Given the description of an element on the screen output the (x, y) to click on. 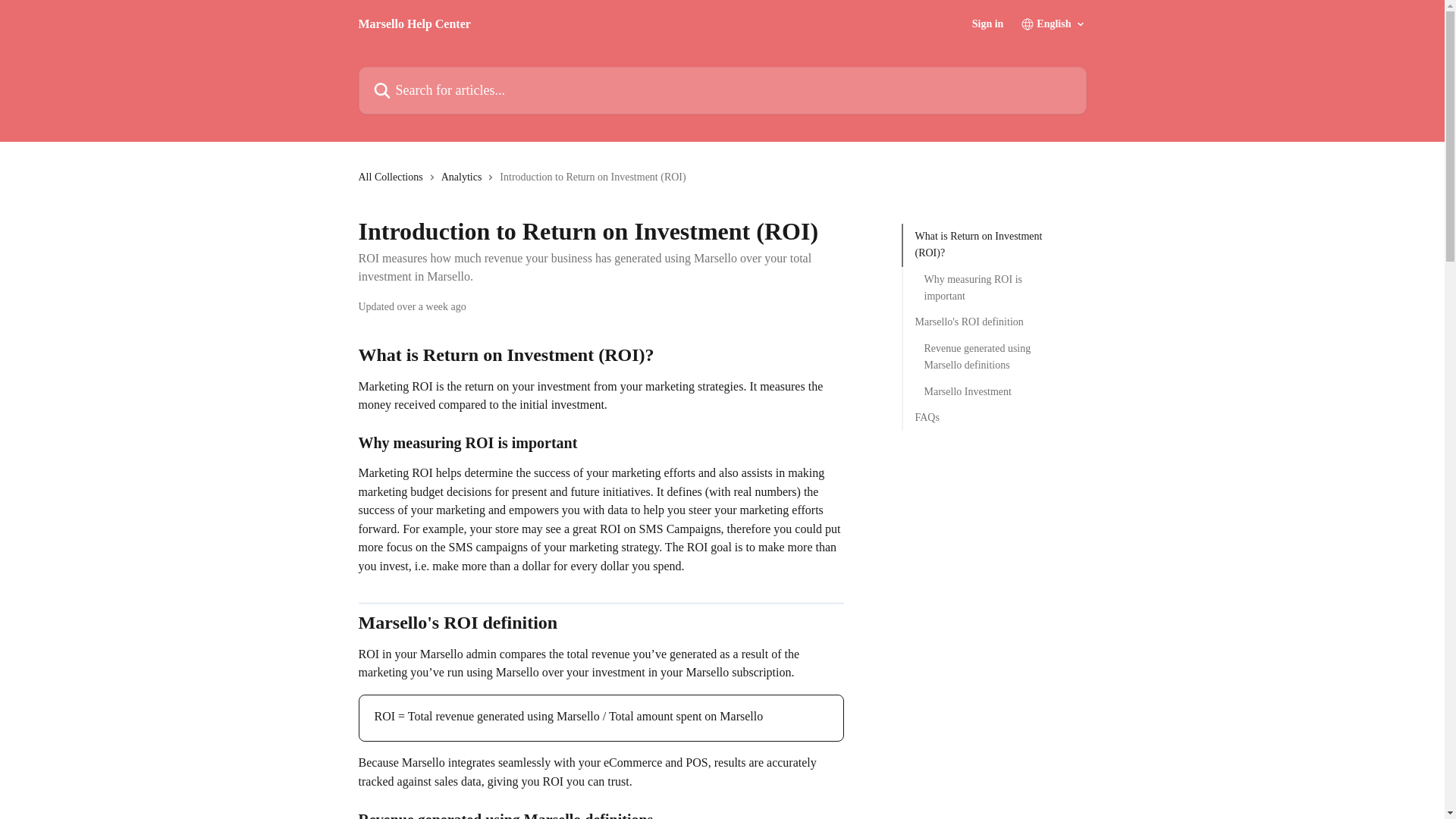
FAQs (994, 417)
Why measuring ROI is important (993, 288)
Analytics (464, 176)
Sign in (988, 23)
Revenue generated using Marsello definitions (993, 357)
All Collections (393, 176)
Marsello's ROI definition (994, 321)
Marsello Investment (993, 392)
